Given the description of an element on the screen output the (x, y) to click on. 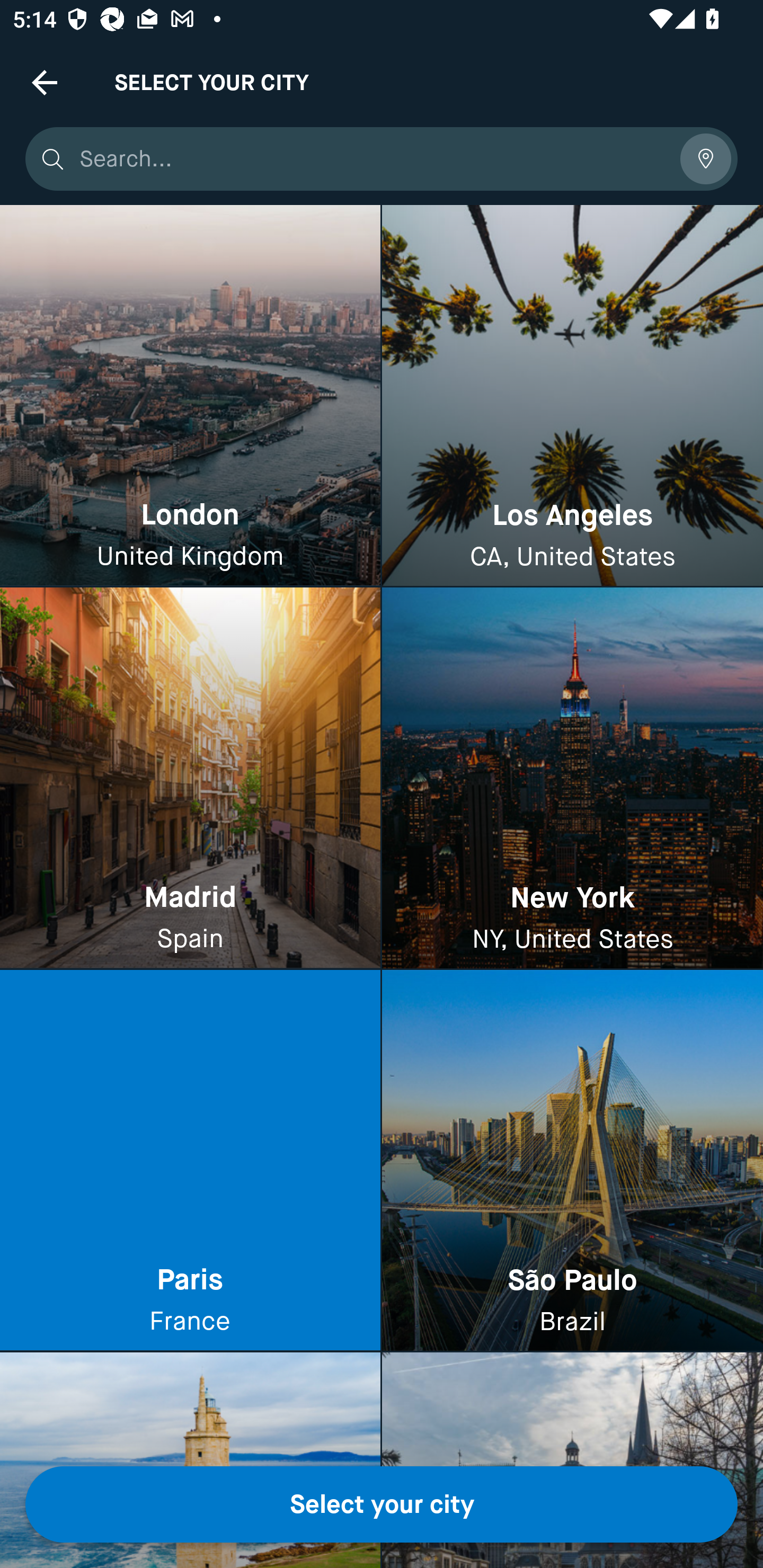
Navigate up (44, 82)
Search... (373, 159)
London United Kingdom (190, 395)
Los Angeles CA, United States (572, 395)
Madrid Spain (190, 778)
New York NY, United States (572, 778)
Paris France (190, 1160)
São Paulo Brazil (572, 1160)
Select your city (381, 1504)
